Given the description of an element on the screen output the (x, y) to click on. 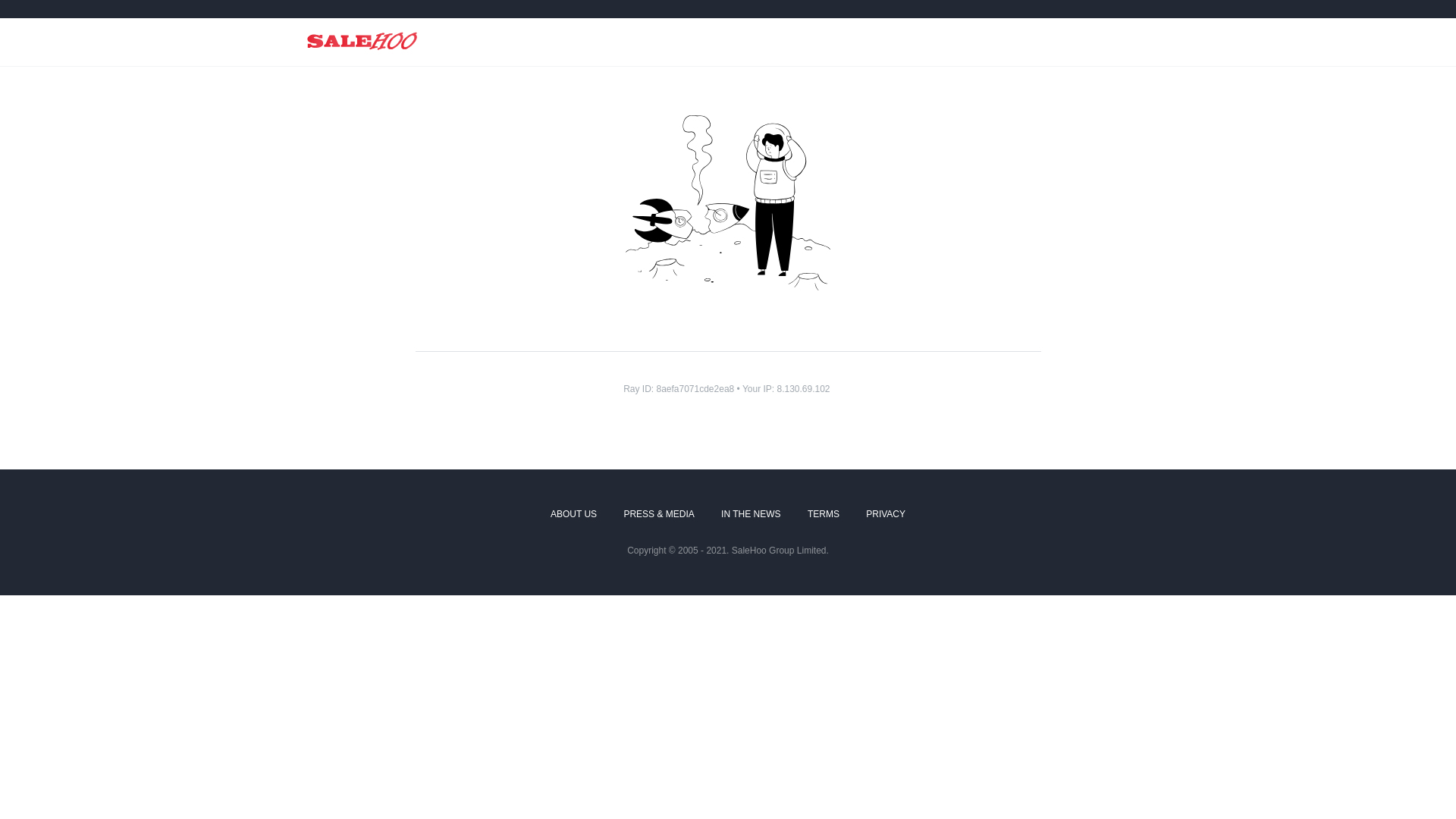
TERMS (824, 514)
PRIVACY (885, 514)
ABOUT US (573, 514)
IN THE NEWS (750, 514)
